Given the description of an element on the screen output the (x, y) to click on. 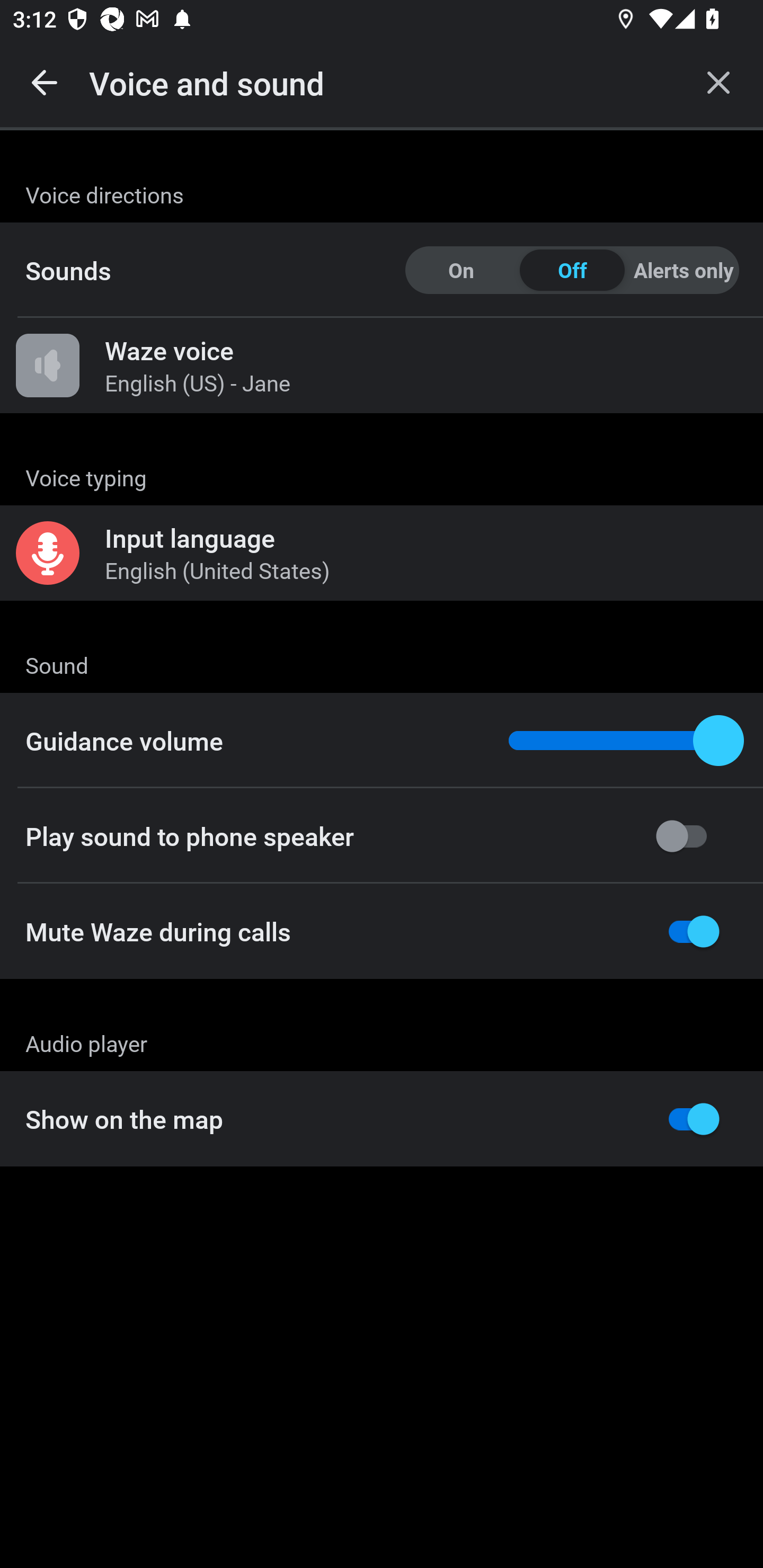
Waze voice English (US) - Jane (381, 365)
Input language English (United States) (381, 552)
Play sound to phone speaker (381, 836)
Mute Waze during calls (381, 931)
Show on the map (381, 1118)
